Given the description of an element on the screen output the (x, y) to click on. 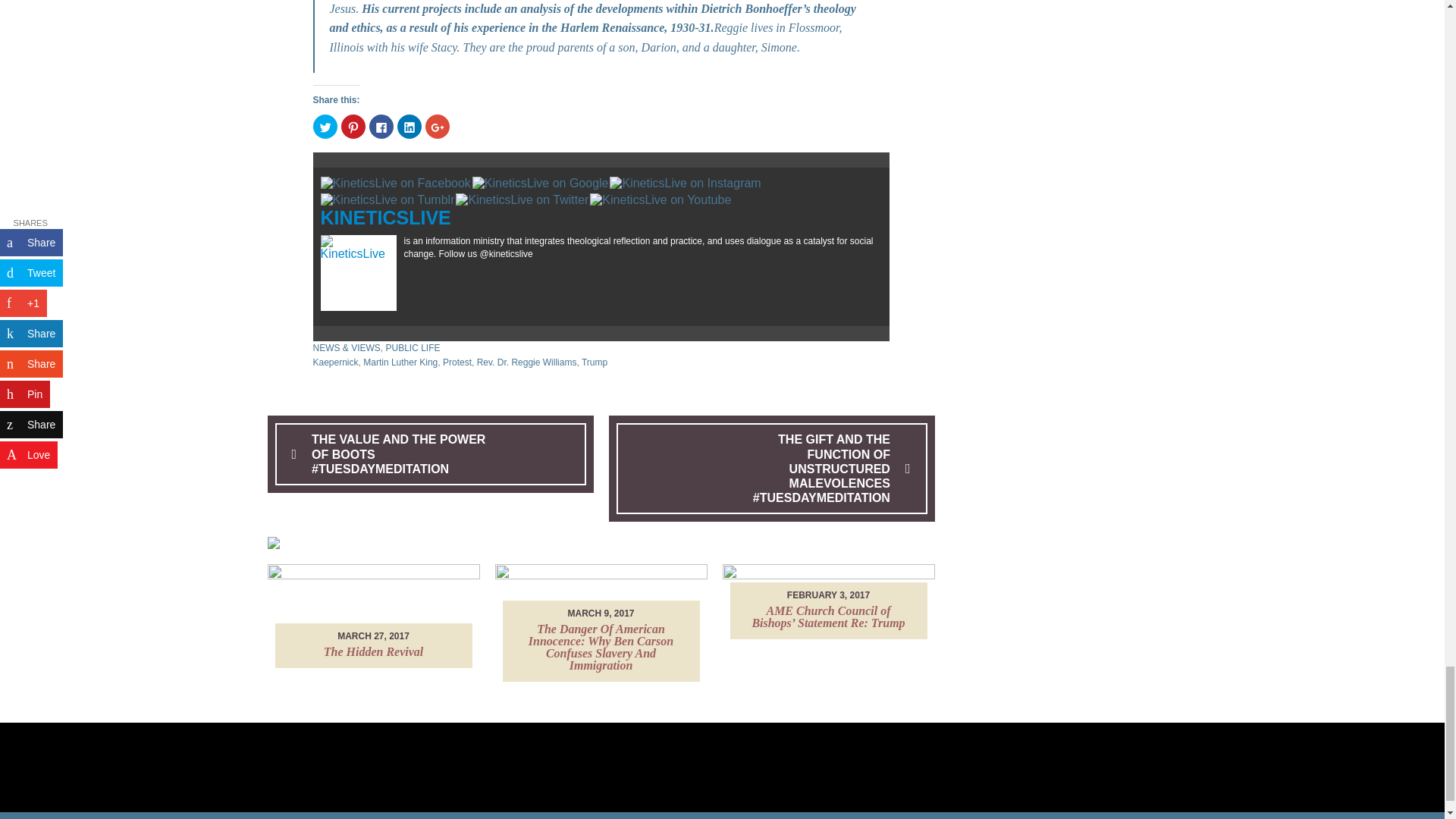
KineticsLive (384, 217)
Click to share on Twitter (324, 126)
Click to share on Pinterest (352, 126)
Click to share on LinkedIn (409, 126)
Click to share on Facebook (380, 126)
